Given the description of an element on the screen output the (x, y) to click on. 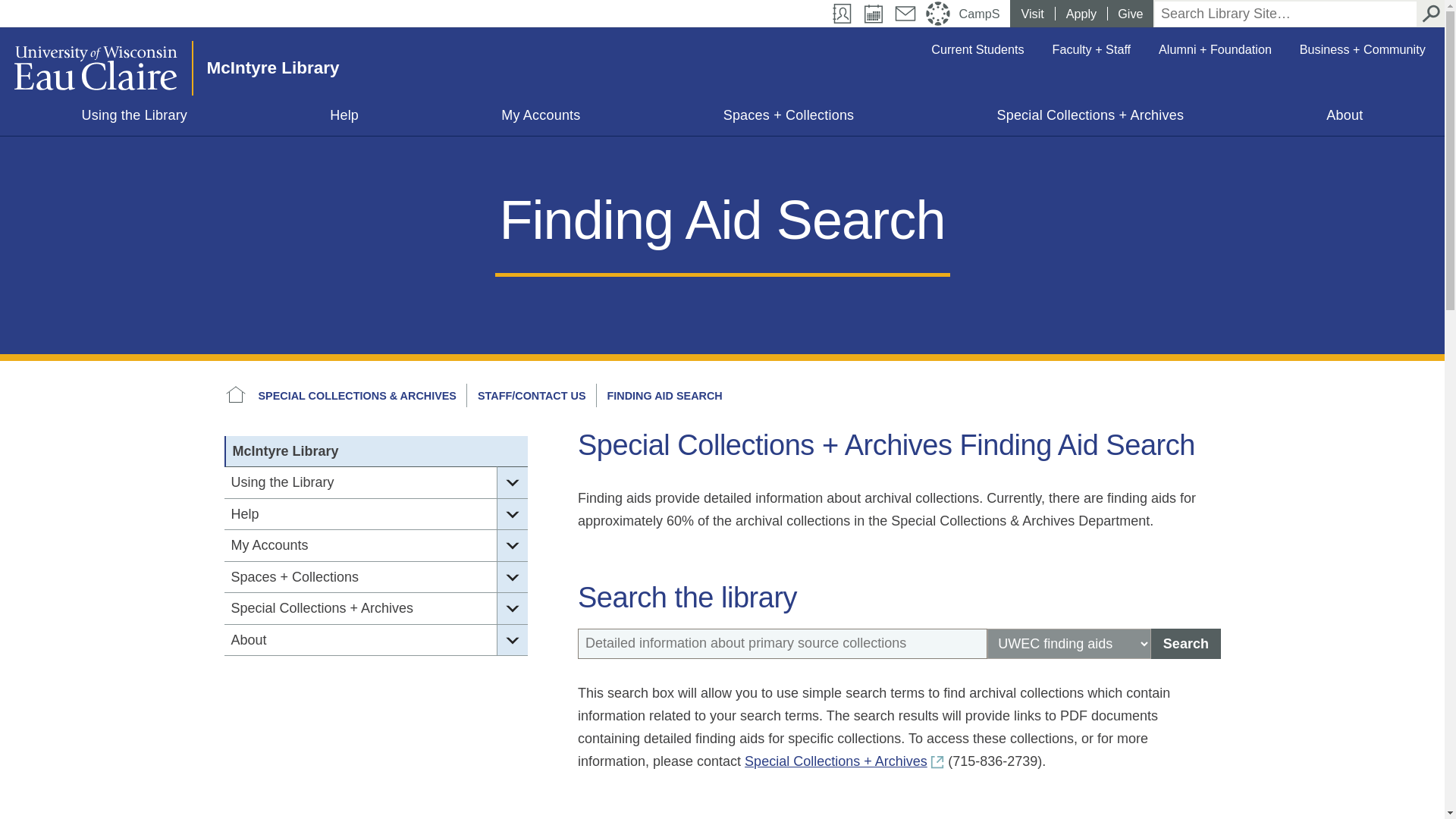
Give (1130, 13)
CampS (981, 13)
Webmail (905, 13)
Help (344, 118)
Directory (843, 13)
MyBlugold CampS (981, 13)
Canvas (938, 13)
Canvas (938, 13)
Directory (843, 13)
Current Students (977, 48)
Search articles, books, media, etc. (782, 643)
Calendar (872, 13)
My Accounts (541, 118)
Visit (1032, 13)
